Given the description of an element on the screen output the (x, y) to click on. 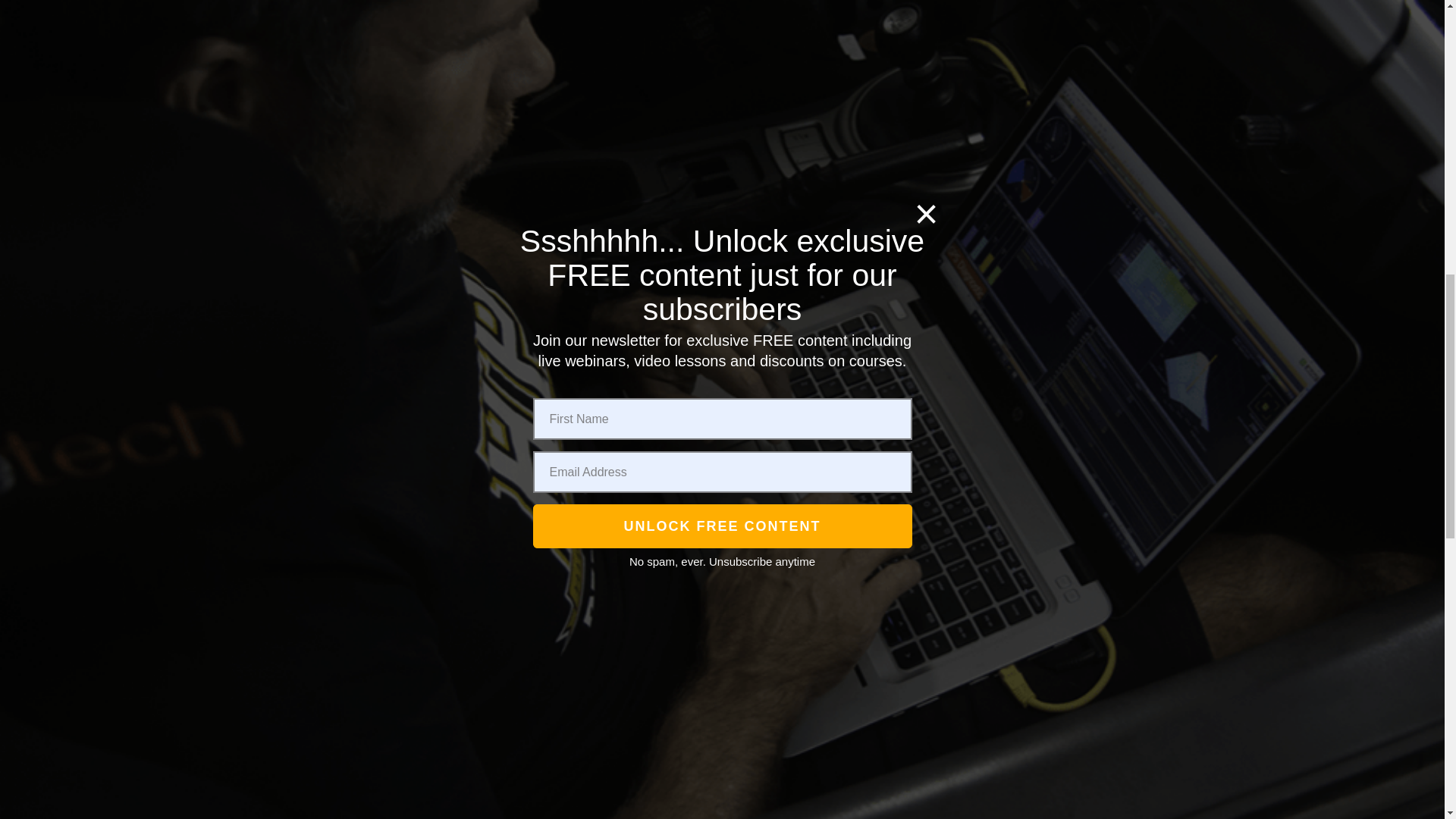
Click here to view M:EP (354, 252)
Click here to view M:EP (355, 319)
Click here to reply to this topic (1009, 783)
Click here to view RobJ (354, 460)
Click here to view RobJ (355, 527)
